Given the description of an element on the screen output the (x, y) to click on. 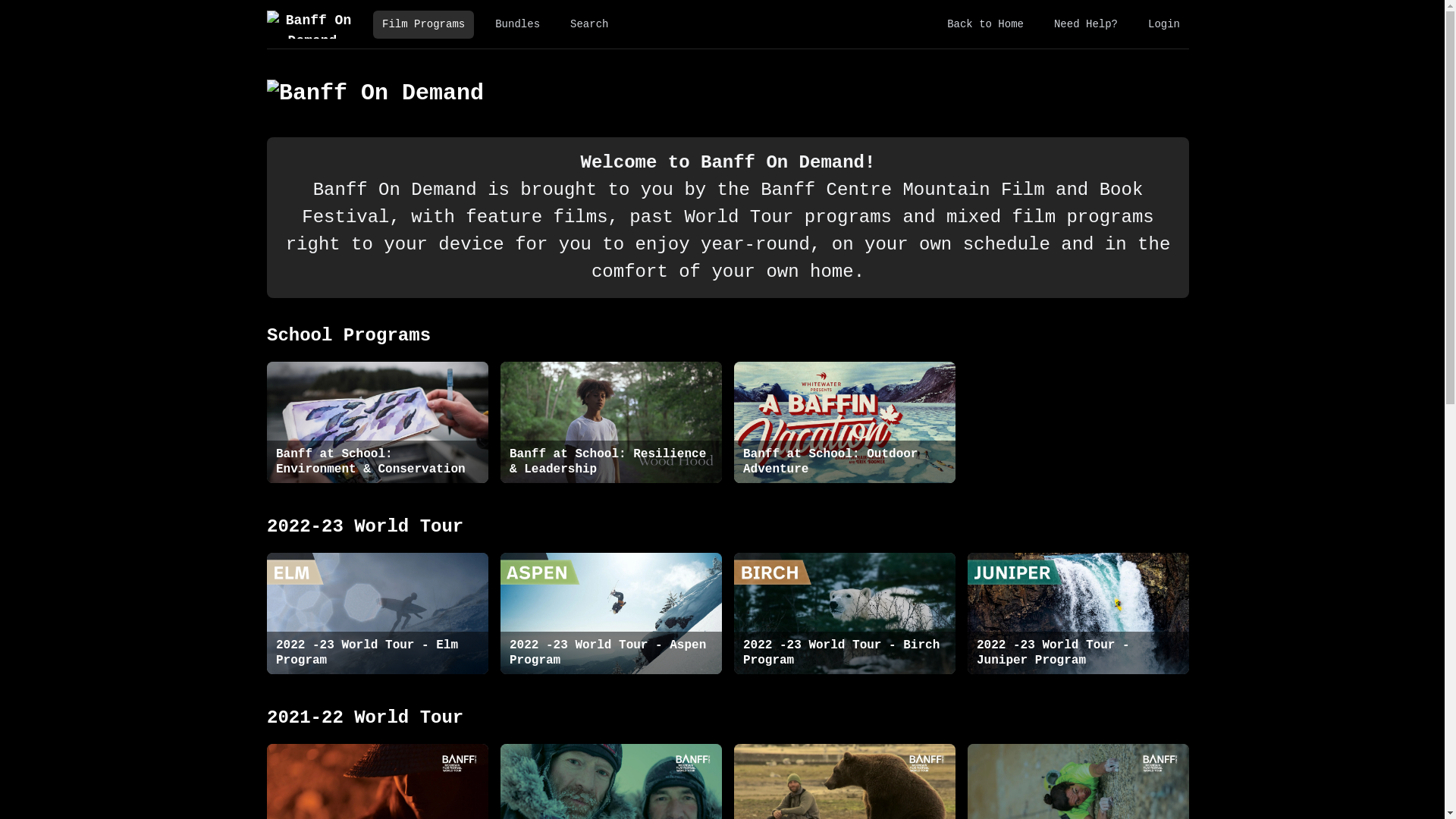
Back to Home Element type: text (985, 24)
2022 -23 World Tour - Elm Program Element type: text (377, 613)
Banff at School: Outdoor Adventure Element type: text (844, 422)
2022 -23 World Tour - Juniper Program Element type: text (1078, 613)
Bundles Element type: text (517, 24)
2022 -23 World Tour - Aspen Program Element type: text (610, 613)
Search Element type: text (589, 24)
2022 -23 World Tour - Birch Program Element type: text (844, 613)
Login Element type: text (1164, 24)
Need Help? Element type: text (1085, 24)
Banff at School: Resilience & Leadership Element type: text (610, 422)
Banff at School: Environment & Conservation Element type: text (377, 422)
Film Programs Element type: text (423, 24)
